Given the description of an element on the screen output the (x, y) to click on. 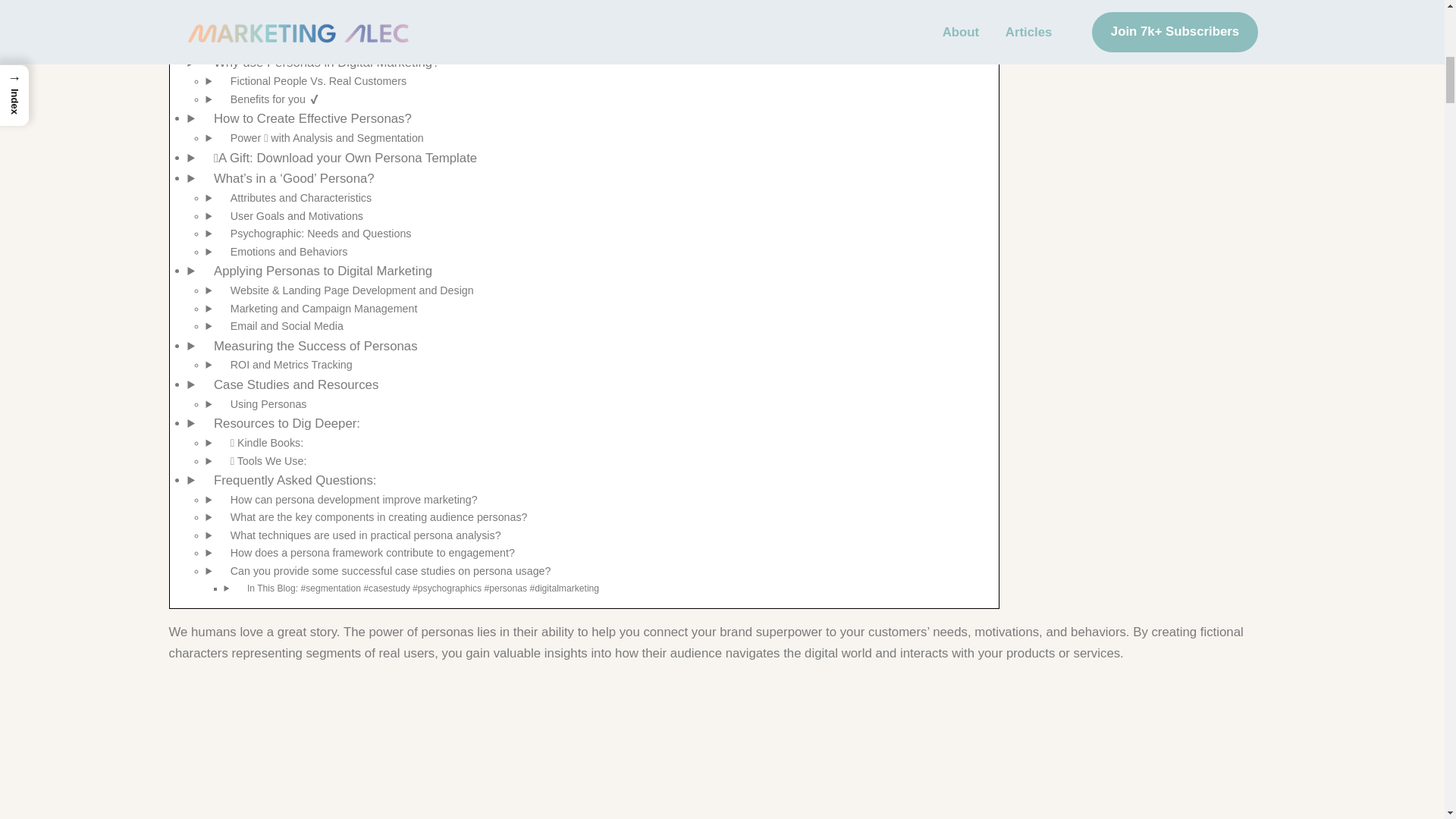
Case Studies and Resources (291, 381)
User Goals and Motivations (293, 211)
Attributes and Characteristics (296, 193)
ROI and Metrics Tracking (287, 361)
Fictional People Vs. Real Customers (314, 76)
What techniques are used in practical persona analysis? (361, 531)
How does a persona framework contribute to engagement? (368, 548)
User Goals and Motivations (293, 211)
Psychographic: Needs and Questions (317, 229)
Email and Social Media (282, 322)
